Given the description of an element on the screen output the (x, y) to click on. 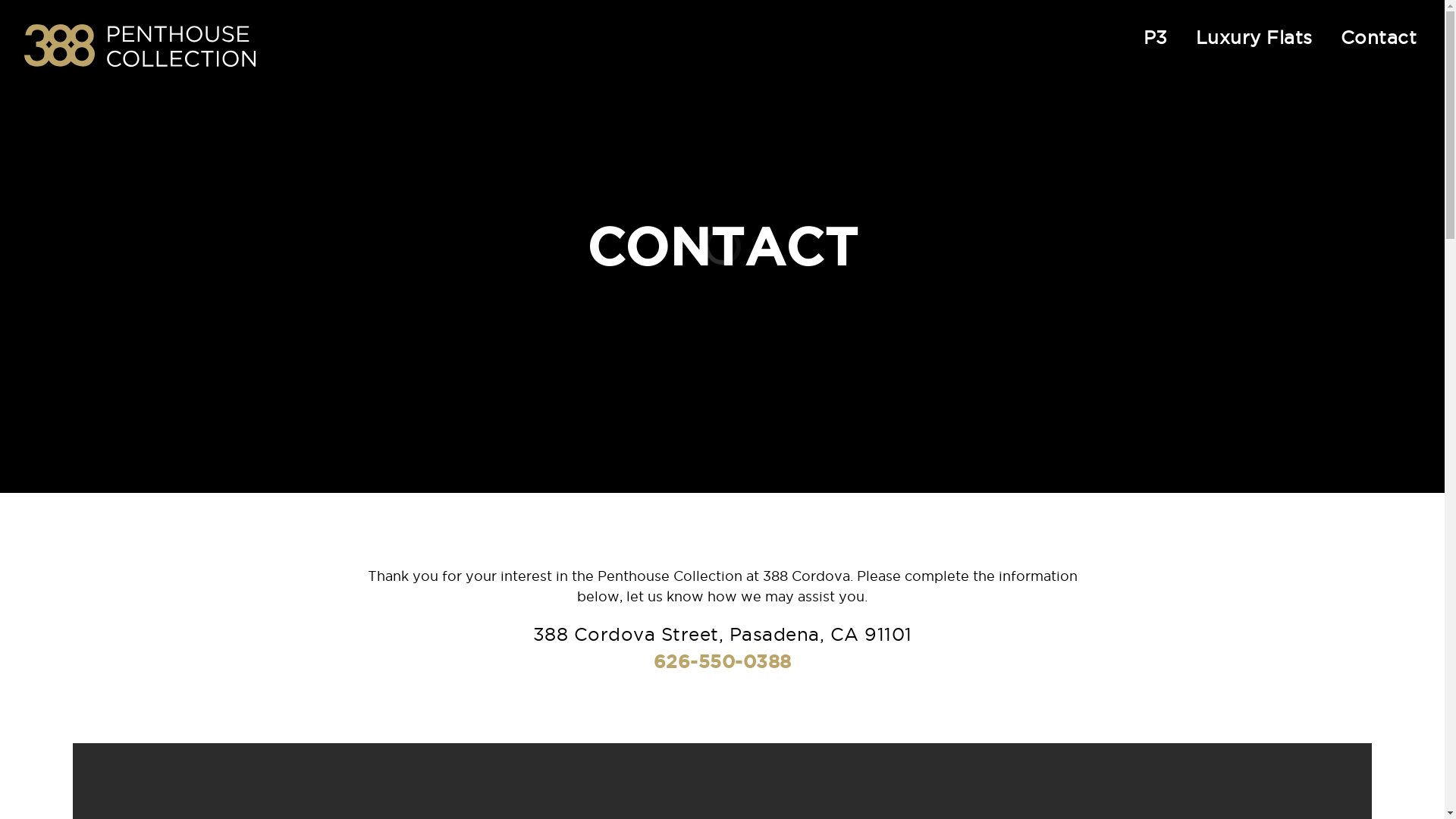
Luxury Flats Element type: text (1253, 36)
626-550-0388 Element type: text (722, 661)
P3 Element type: text (1155, 36)
Contact Element type: text (1378, 36)
